Given the description of an element on the screen output the (x, y) to click on. 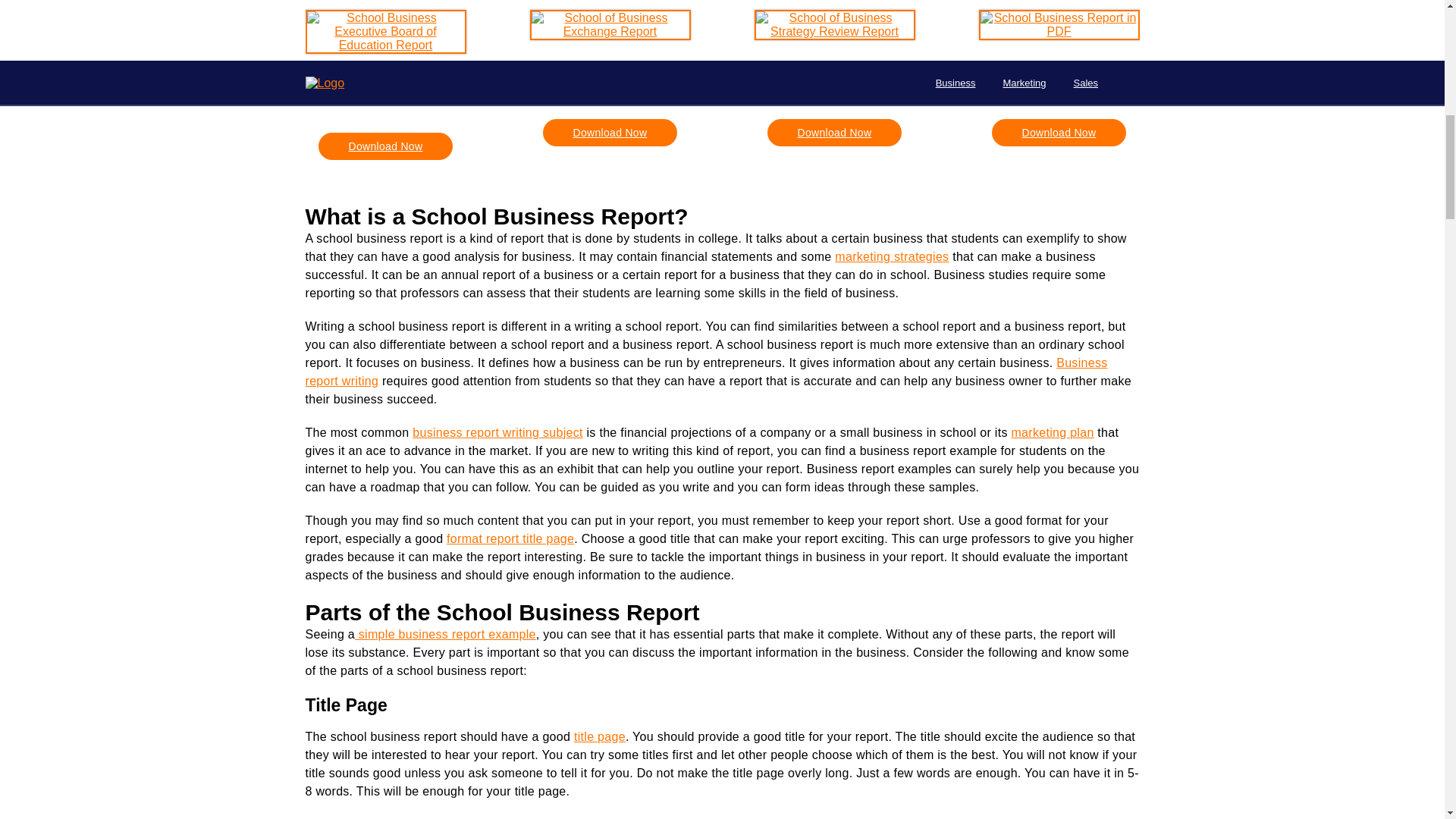
School Of Business Strategy Review Report (834, 75)
Download Now (610, 132)
Download Now (834, 132)
School Business Executive Board Of Education Report (384, 89)
Download Now (385, 145)
Download Now (1058, 132)
School Business Report In PDF (1058, 75)
marketing strategies (891, 256)
School Of Business Exchange Report (609, 75)
